Given the description of an element on the screen output the (x, y) to click on. 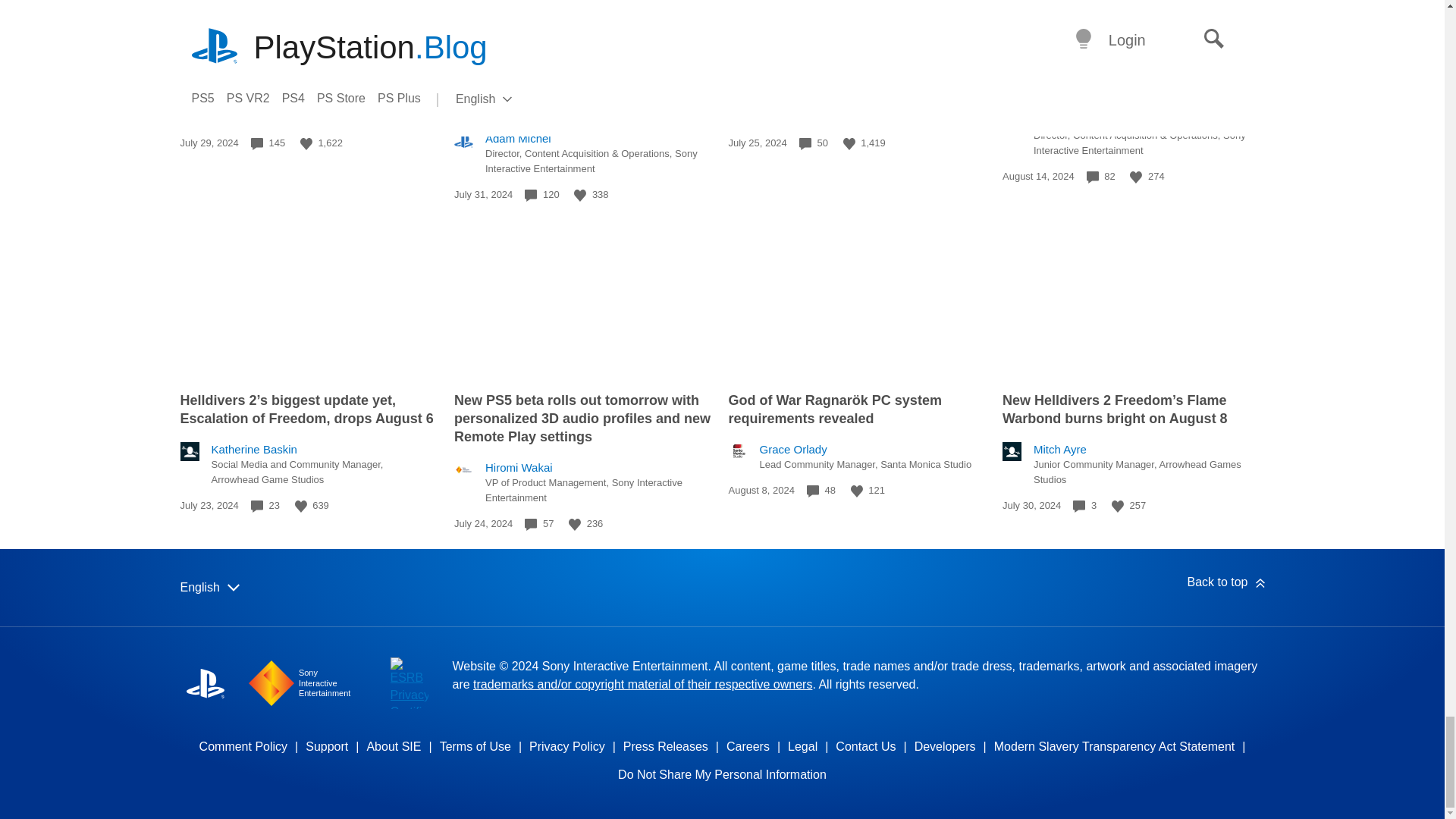
Like this (306, 143)
Like this (301, 506)
Like this (579, 195)
Like this (849, 143)
Like this (1135, 177)
